Given the description of an element on the screen output the (x, y) to click on. 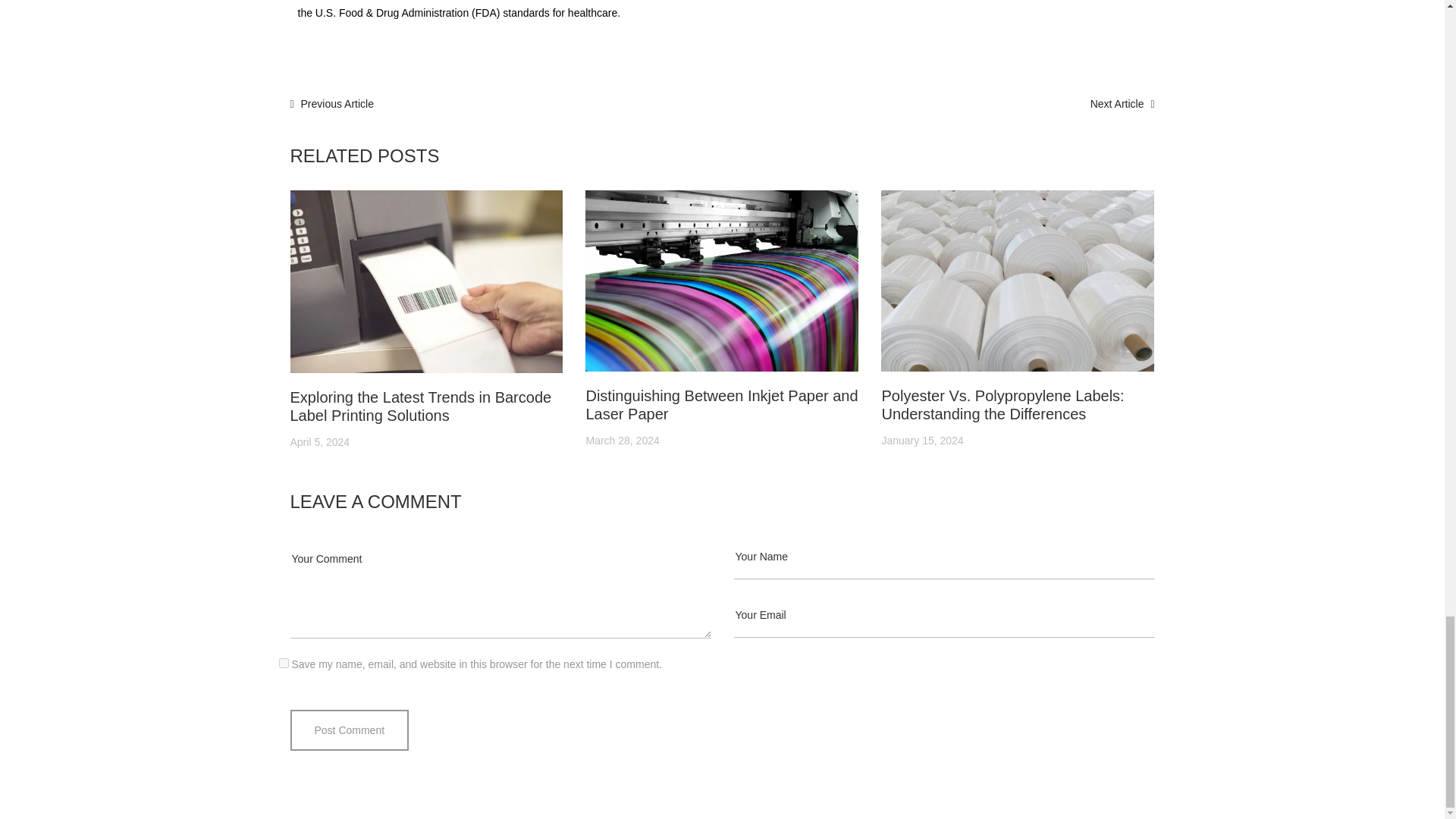
Post Comment (349, 730)
Previous Article (331, 103)
yes (283, 663)
Next Article (1122, 103)
Distinguishing Between Inkjet Paper and Laser Paper (721, 404)
